Given the description of an element on the screen output the (x, y) to click on. 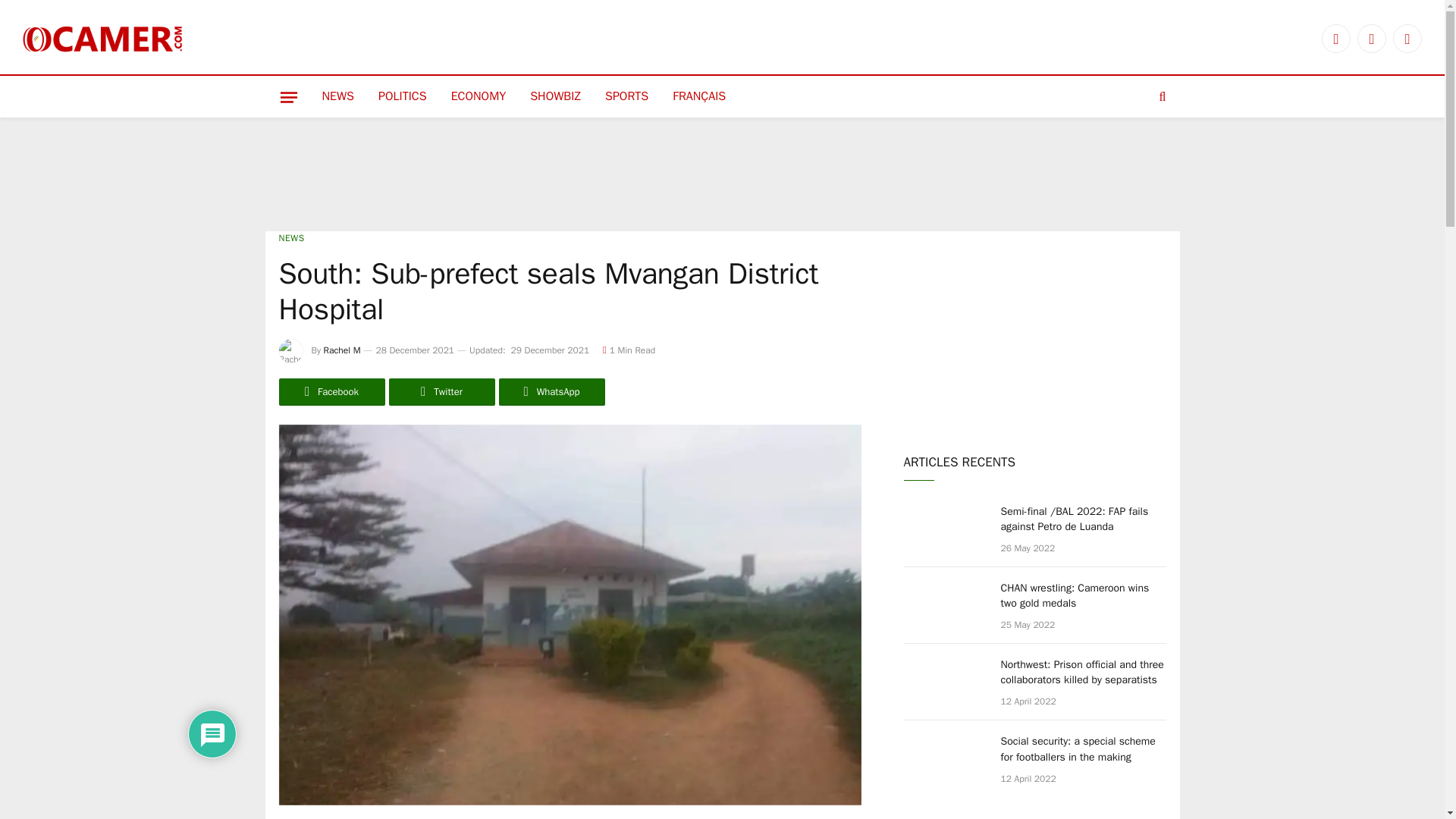
Posts by Rachel M (342, 349)
Share on Facebook (332, 391)
Facebook (1336, 38)
NEWS (291, 237)
POLITICS (402, 96)
Twitter (441, 391)
Rachel M (342, 349)
SHOWBIZ (555, 96)
ECONOMY (478, 96)
Search (1161, 97)
Facebook (332, 391)
SPORTS (626, 96)
Instagram (1407, 38)
NEWS (337, 96)
